Given the description of an element on the screen output the (x, y) to click on. 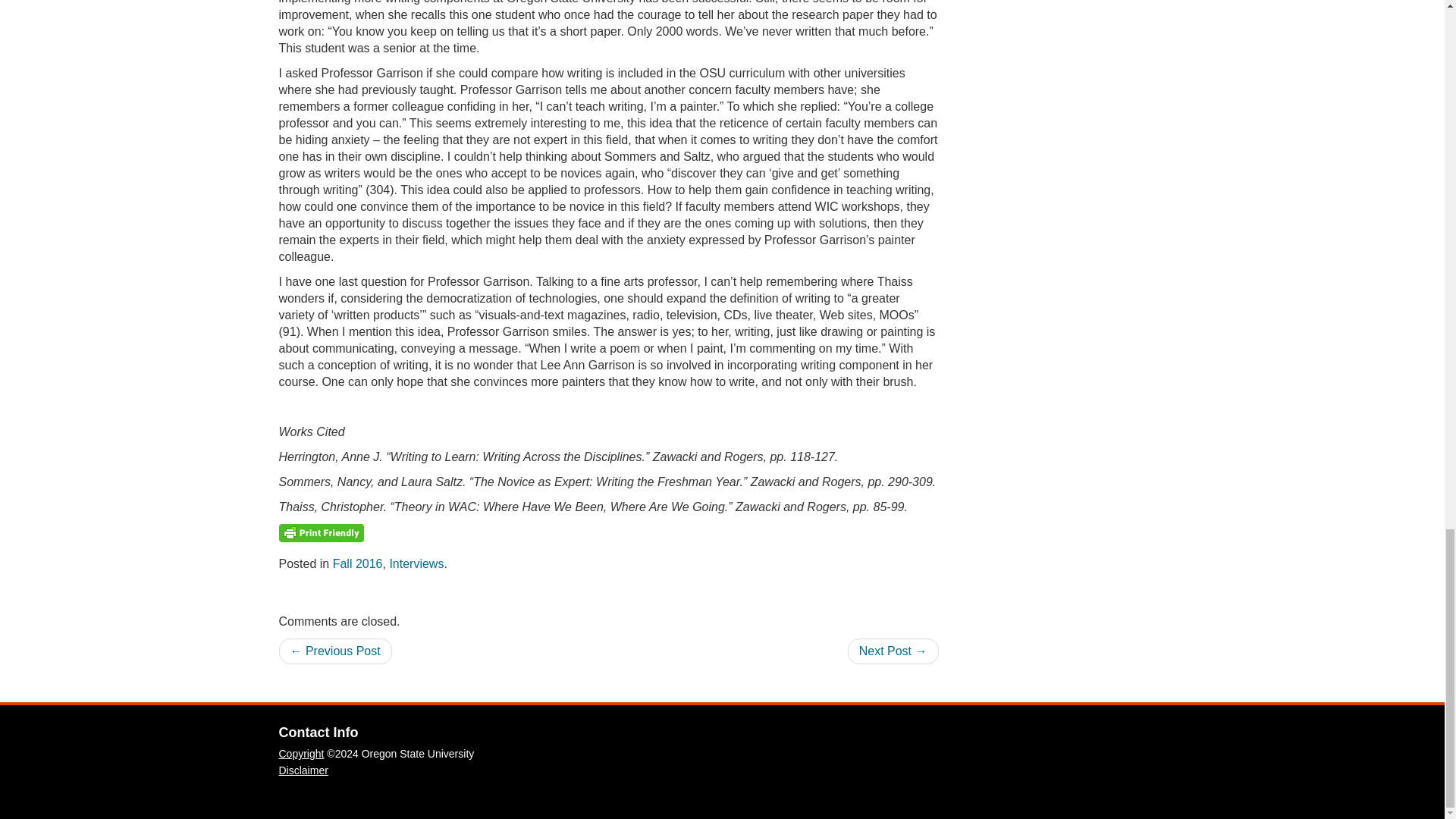
Fall 2016 (357, 563)
Interviews (416, 563)
